Given the description of an element on the screen output the (x, y) to click on. 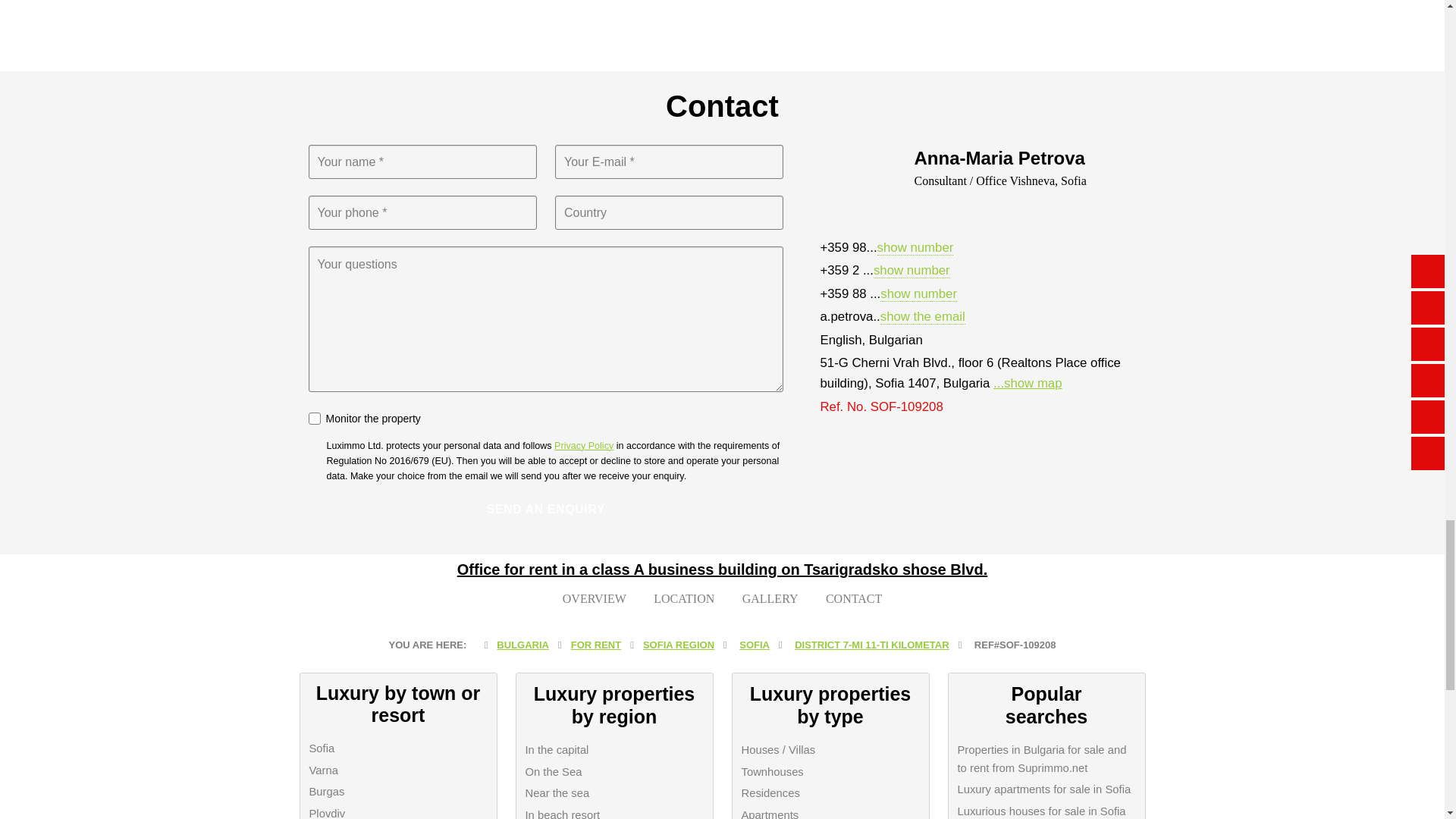
Send an enquiry (545, 509)
